Given the description of an element on the screen output the (x, y) to click on. 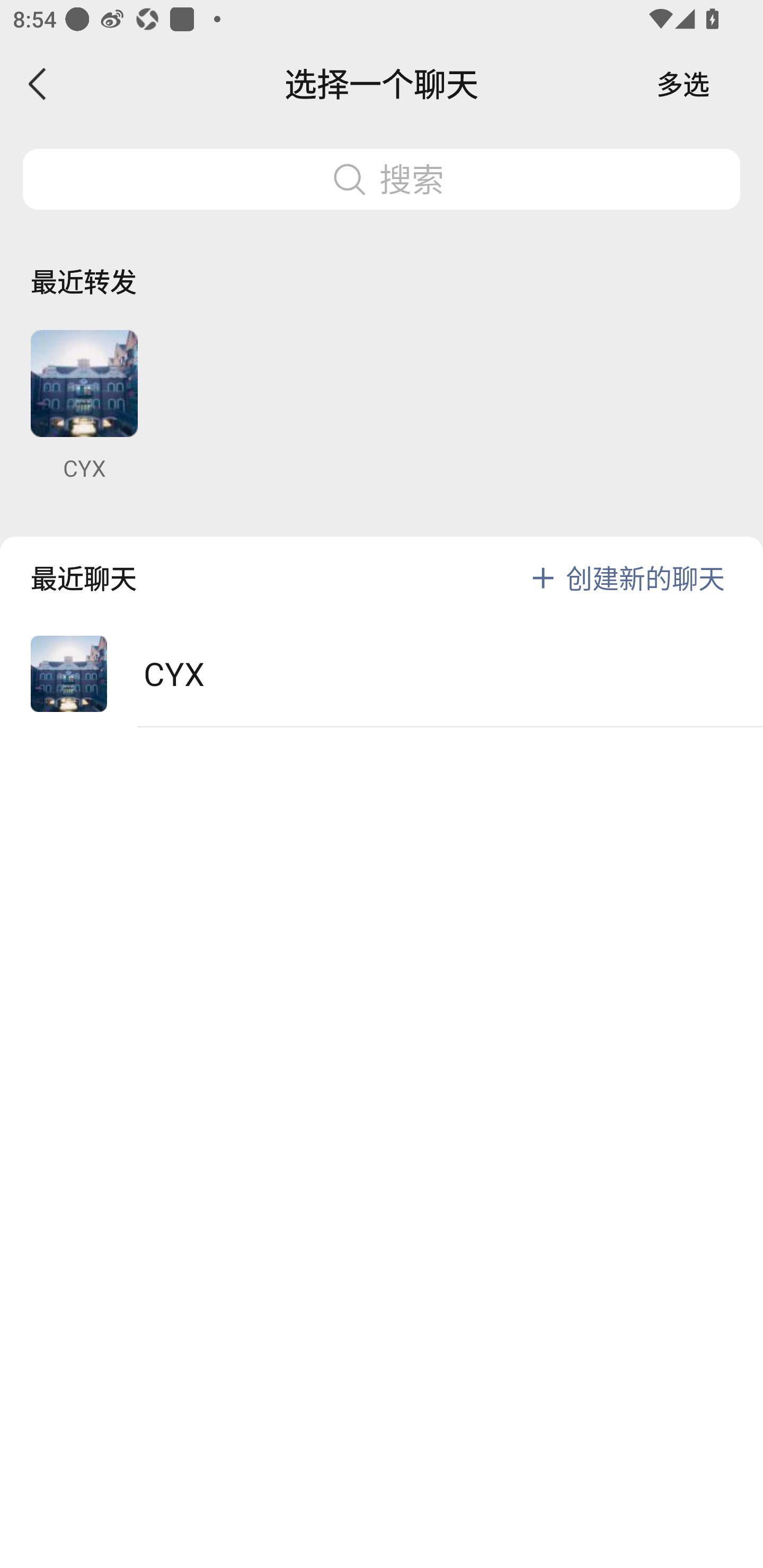
返回 (38, 83)
多选 (683, 83)
CYX (84, 405)
创建新的聊天 (645, 577)
CYX (381, 673)
